Given the description of an element on the screen output the (x, y) to click on. 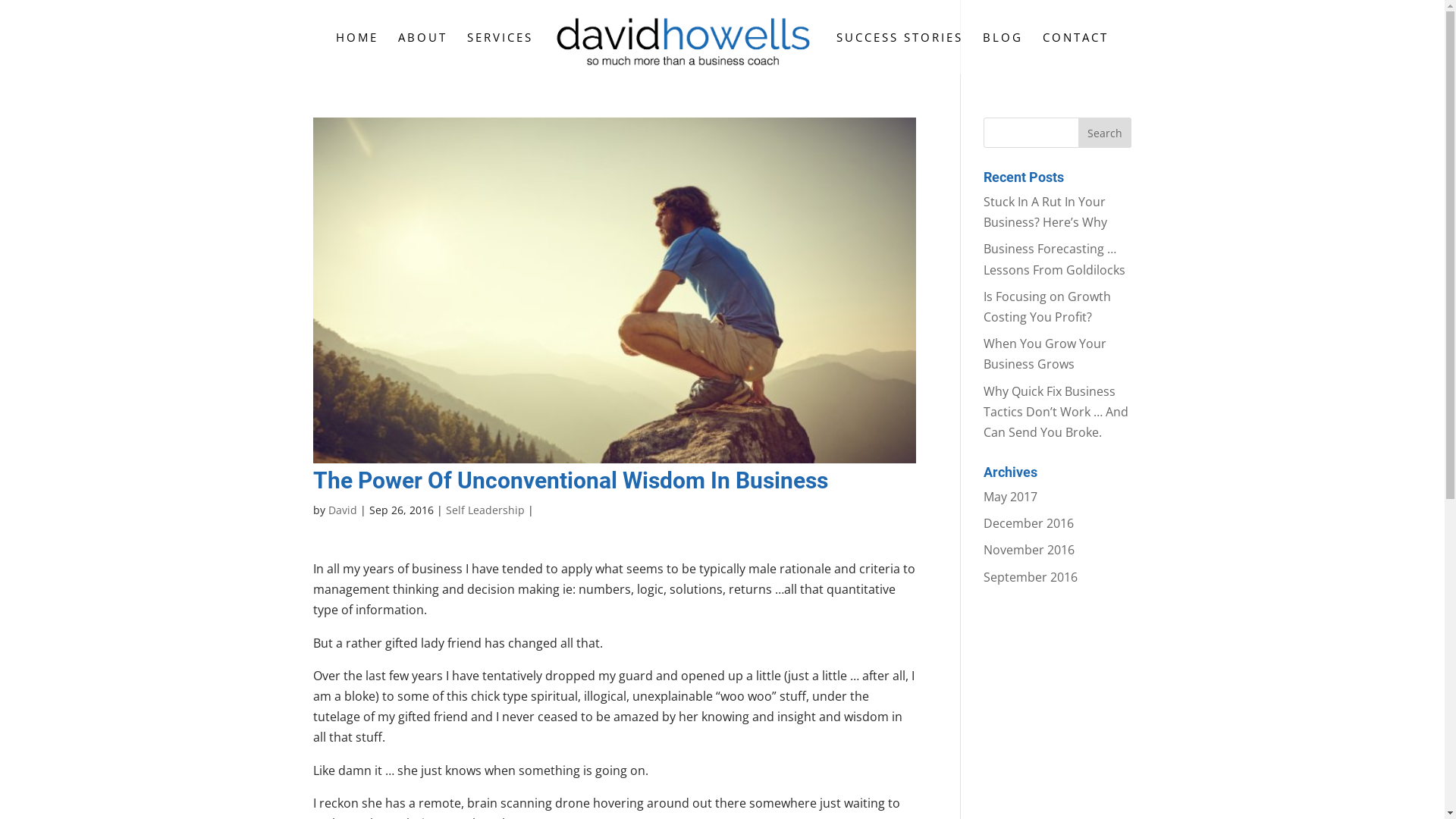
Search Element type: text (1104, 132)
ABOUT Element type: text (422, 52)
BLOG Element type: text (1002, 52)
SERVICES Element type: text (500, 52)
December 2016 Element type: text (1028, 522)
November 2016 Element type: text (1028, 549)
David Element type: text (341, 509)
CONTACT Element type: text (1075, 52)
Is Focusing on Growth Costing You Profit? Element type: text (1046, 306)
When You Grow Your Business Grows Element type: text (1044, 353)
SUCCESS STORIES Element type: text (899, 52)
September 2016 Element type: text (1030, 576)
May 2017 Element type: text (1010, 496)
Self Leadership Element type: text (484, 509)
HOME Element type: text (356, 52)
